Given the description of an element on the screen output the (x, y) to click on. 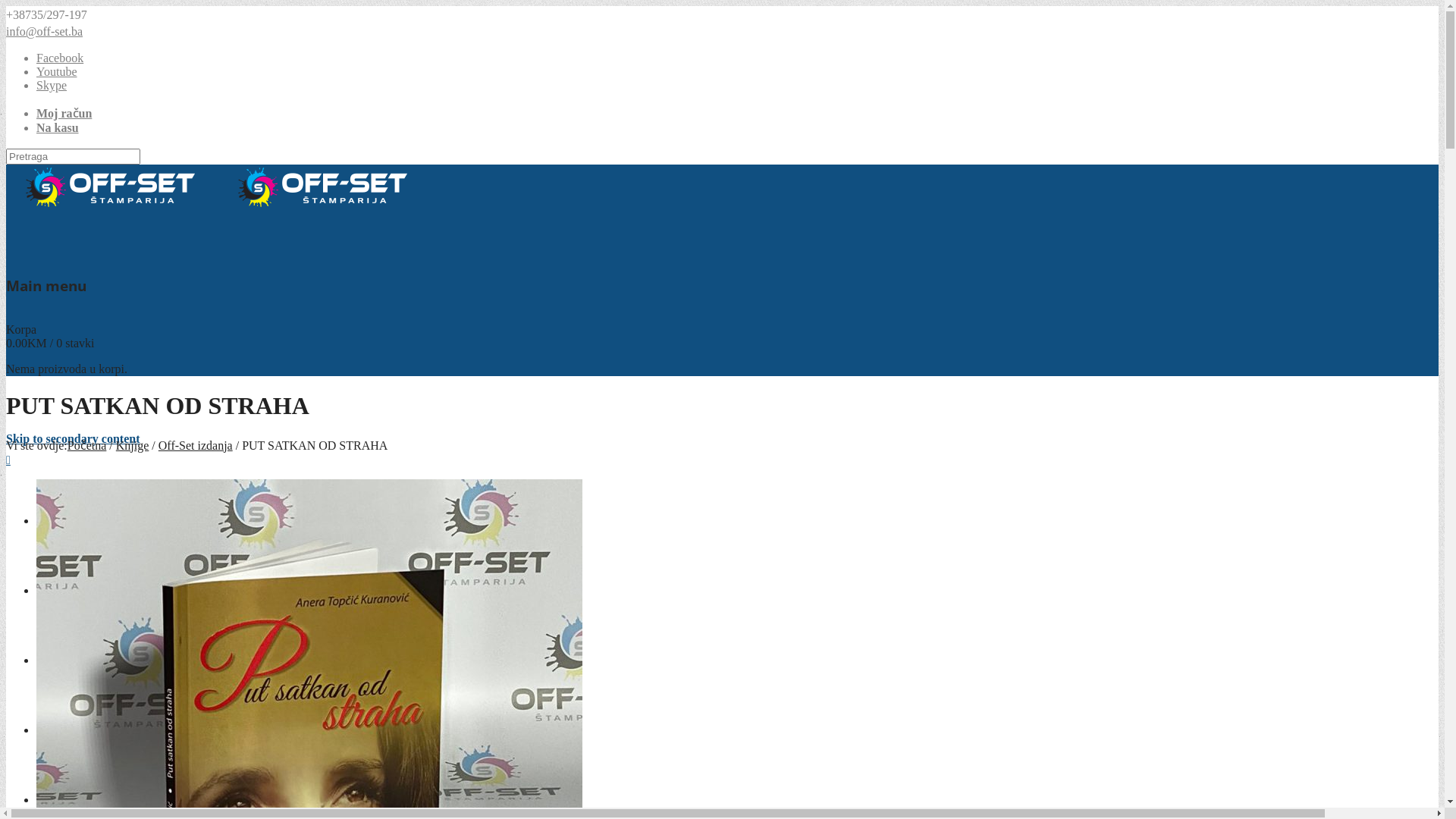
Skip to primary content Element type: text (68, 368)
Skip to secondary content Element type: text (72, 438)
Off-Set izdanja Element type: text (195, 445)
Knjige Element type: text (132, 445)
Youtube Element type: text (56, 71)
O NAMA Element type: text (61, 589)
KATALOG Element type: text (66, 729)
OFF-SET d.o.o. Tuzla Element type: hover (216, 205)
KONTAKT Element type: text (66, 799)
info@off-set.ba Element type: text (44, 31)
NASLOVNA Element type: text (70, 520)
Na kasu Element type: text (57, 127)
Facebook Element type: text (59, 57)
USLUGE Element type: text (61, 659)
Skype Element type: text (51, 84)
